Given the description of an element on the screen output the (x, y) to click on. 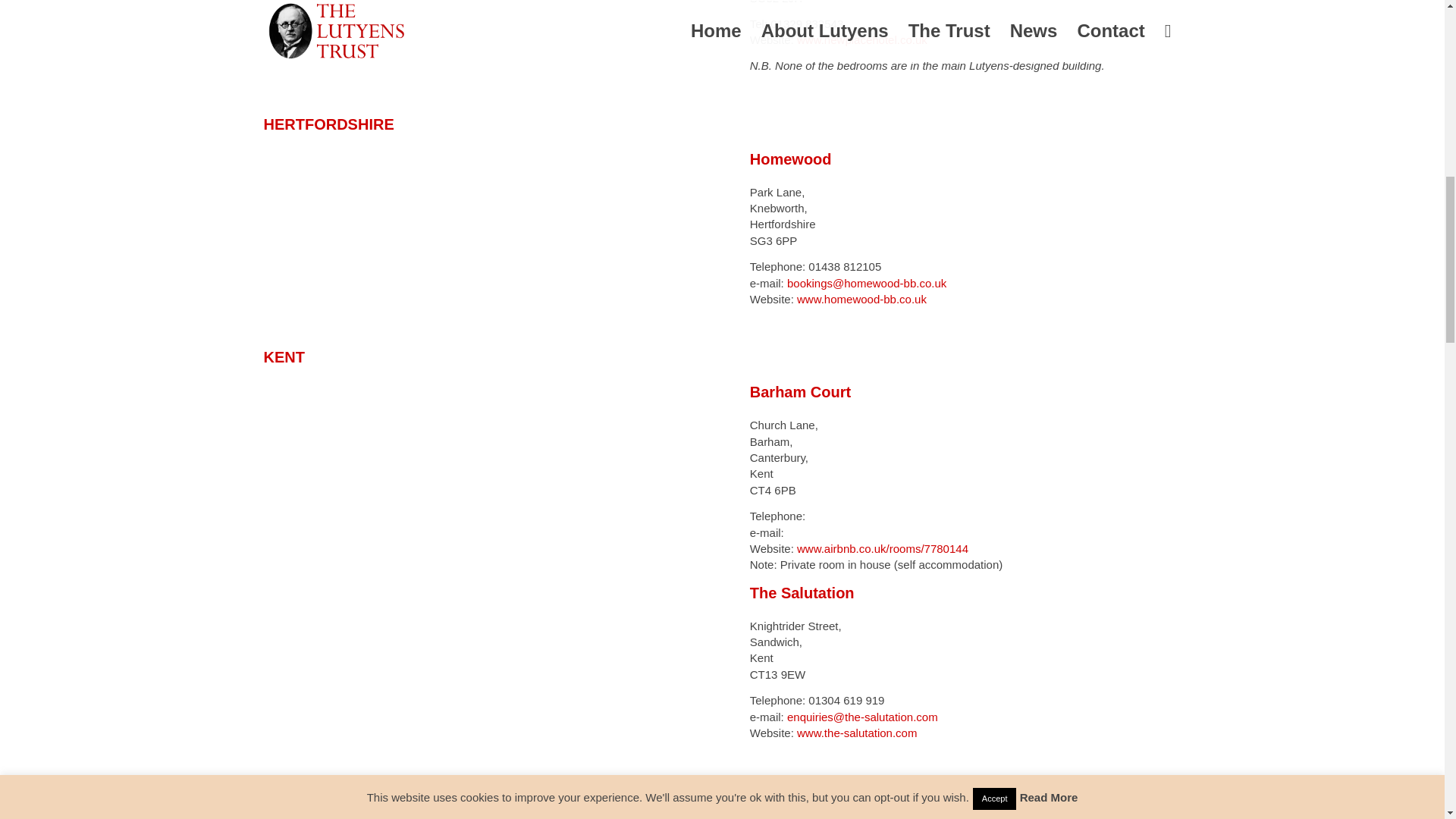
www.homewood-bb.co.uk (861, 298)
www.the-salutation.com (856, 732)
www.newplacehotel.co.uk (861, 39)
